Given the description of an element on the screen output the (x, y) to click on. 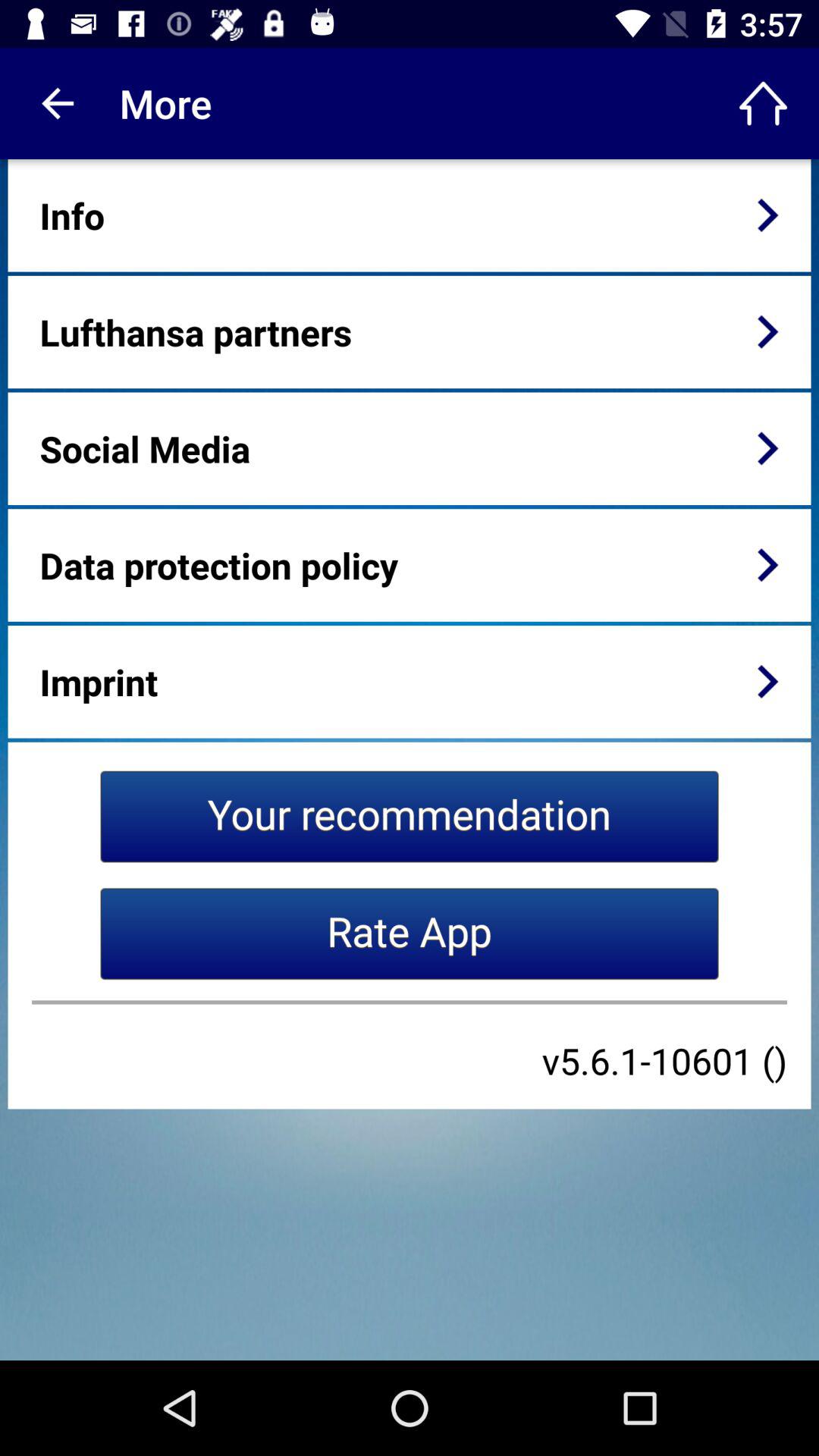
launch the imprint item (98, 681)
